Given the description of an element on the screen output the (x, y) to click on. 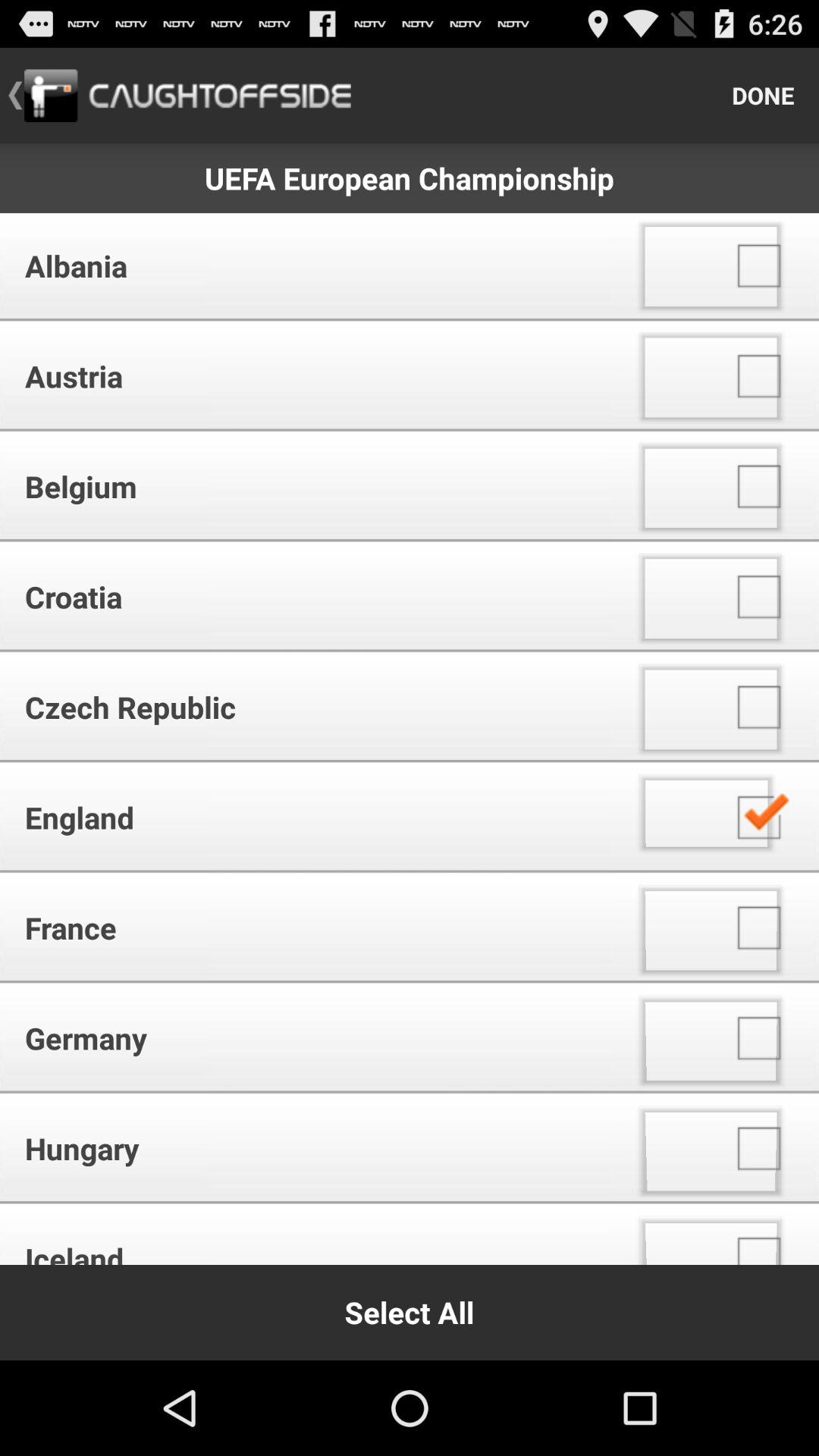
choose the app above england app (311, 707)
